Given the description of an element on the screen output the (x, y) to click on. 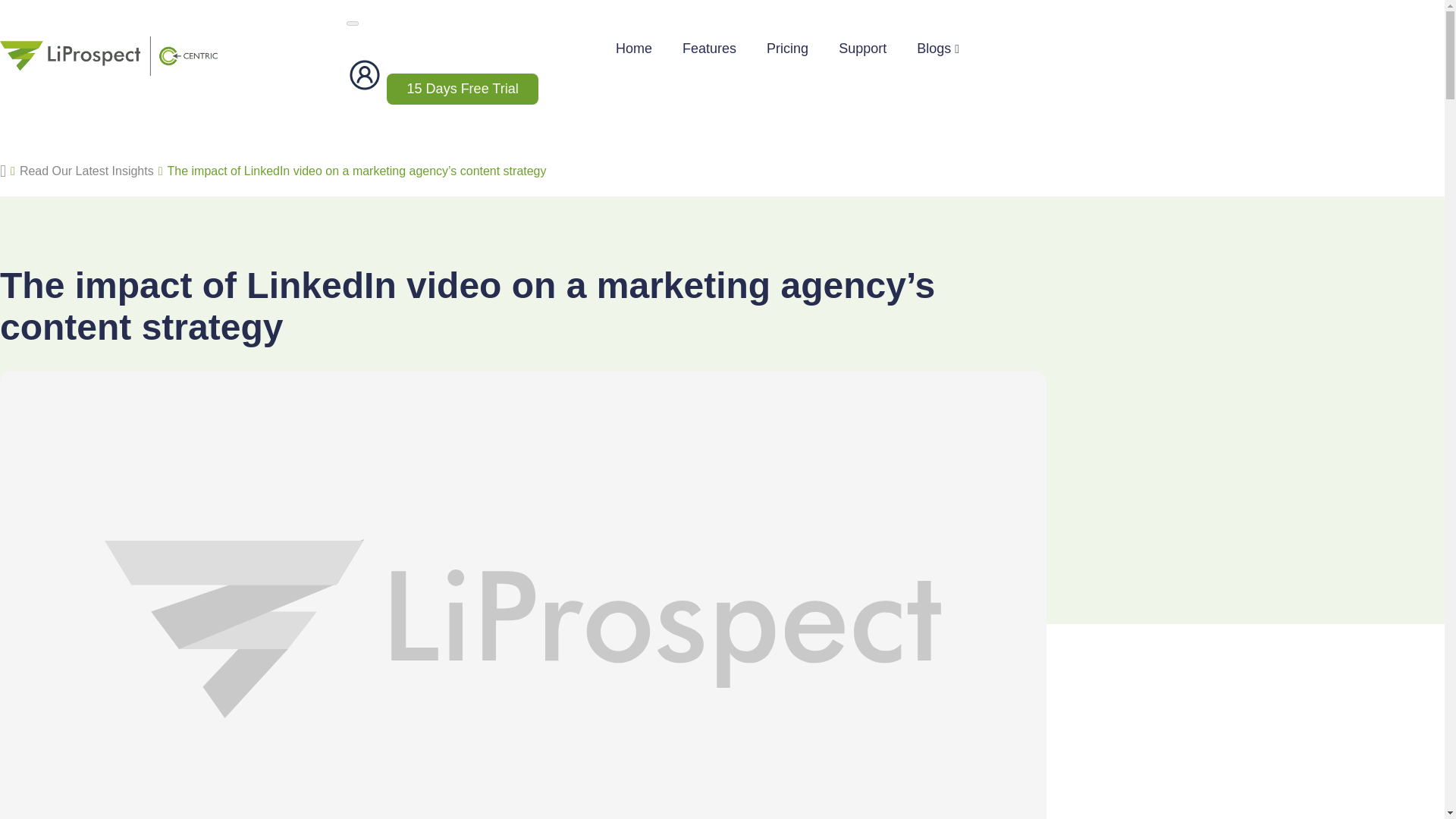
Features (709, 48)
Read Our Latest Insights (87, 171)
15 Days Free Trial (462, 88)
Blogs (938, 48)
Pricing (787, 48)
Support (862, 48)
Home (633, 48)
